Given the description of an element on the screen output the (x, y) to click on. 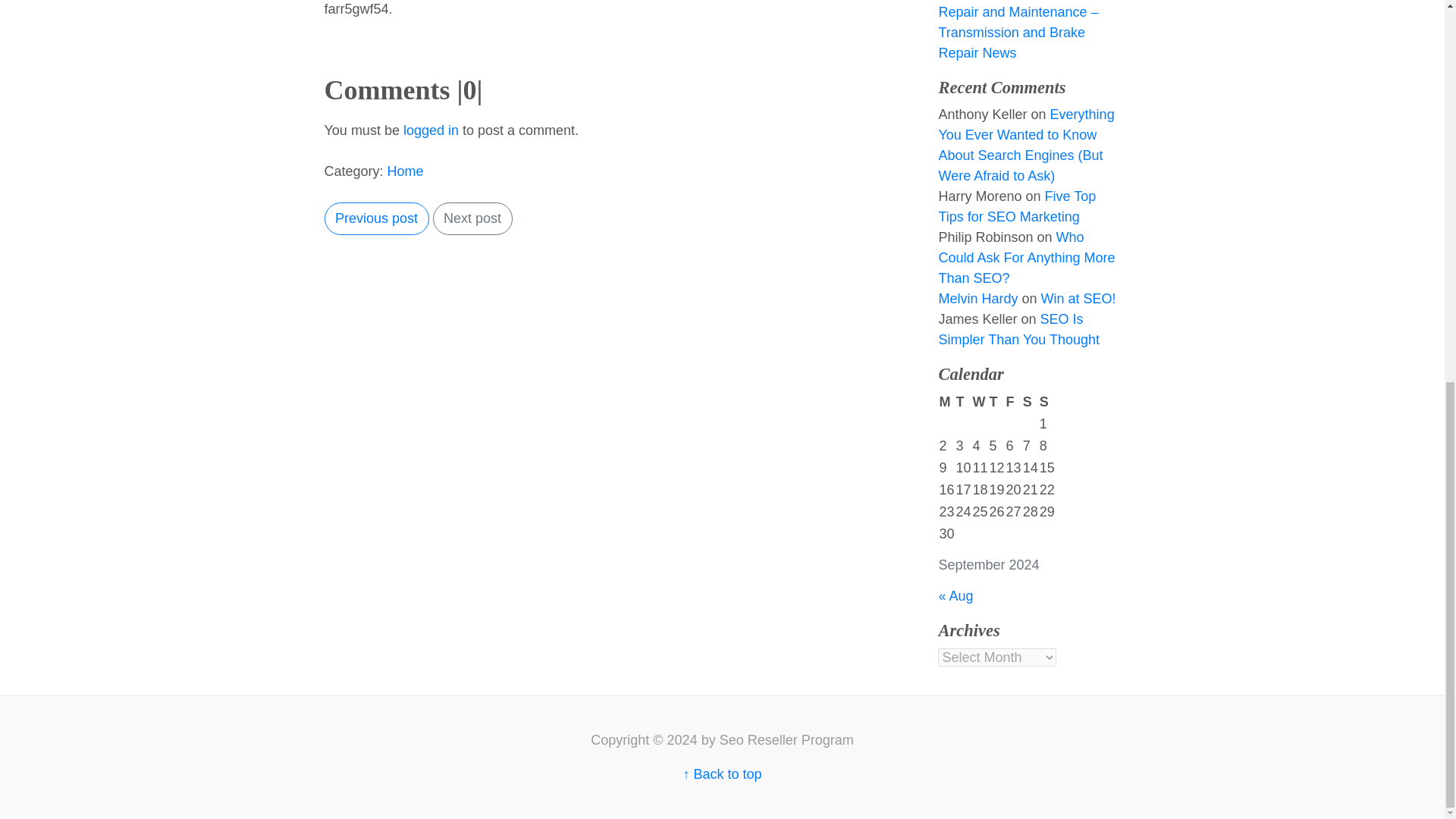
Next post (472, 218)
Five Top Tips for SEO Marketing (1016, 206)
Melvin Hardy (977, 298)
logged in (430, 130)
Win at SEO! (1078, 298)
Home (405, 171)
Who Could Ask For Anything More Than SEO? (1026, 257)
SEO Is Simpler Than You Thought (1018, 329)
Previous post (376, 218)
